Given the description of an element on the screen output the (x, y) to click on. 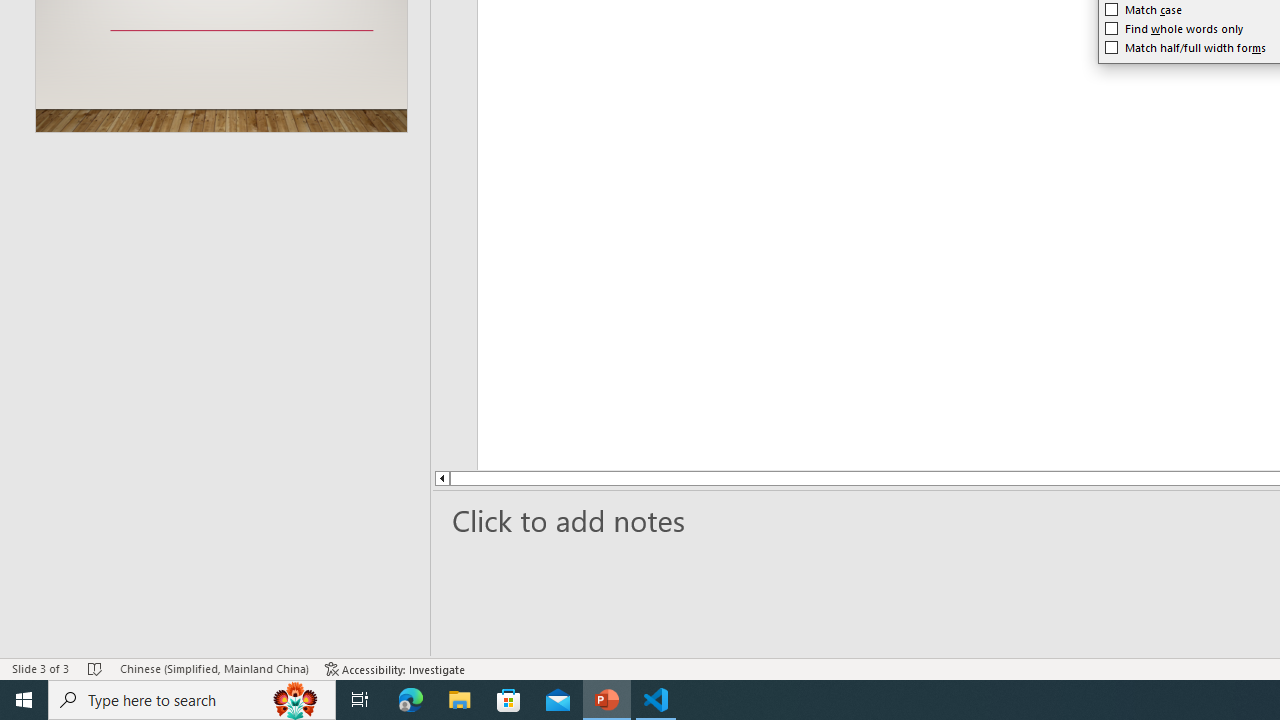
Match case (1144, 10)
Match half/full width forms (1186, 48)
